Given the description of an element on the screen output the (x, y) to click on. 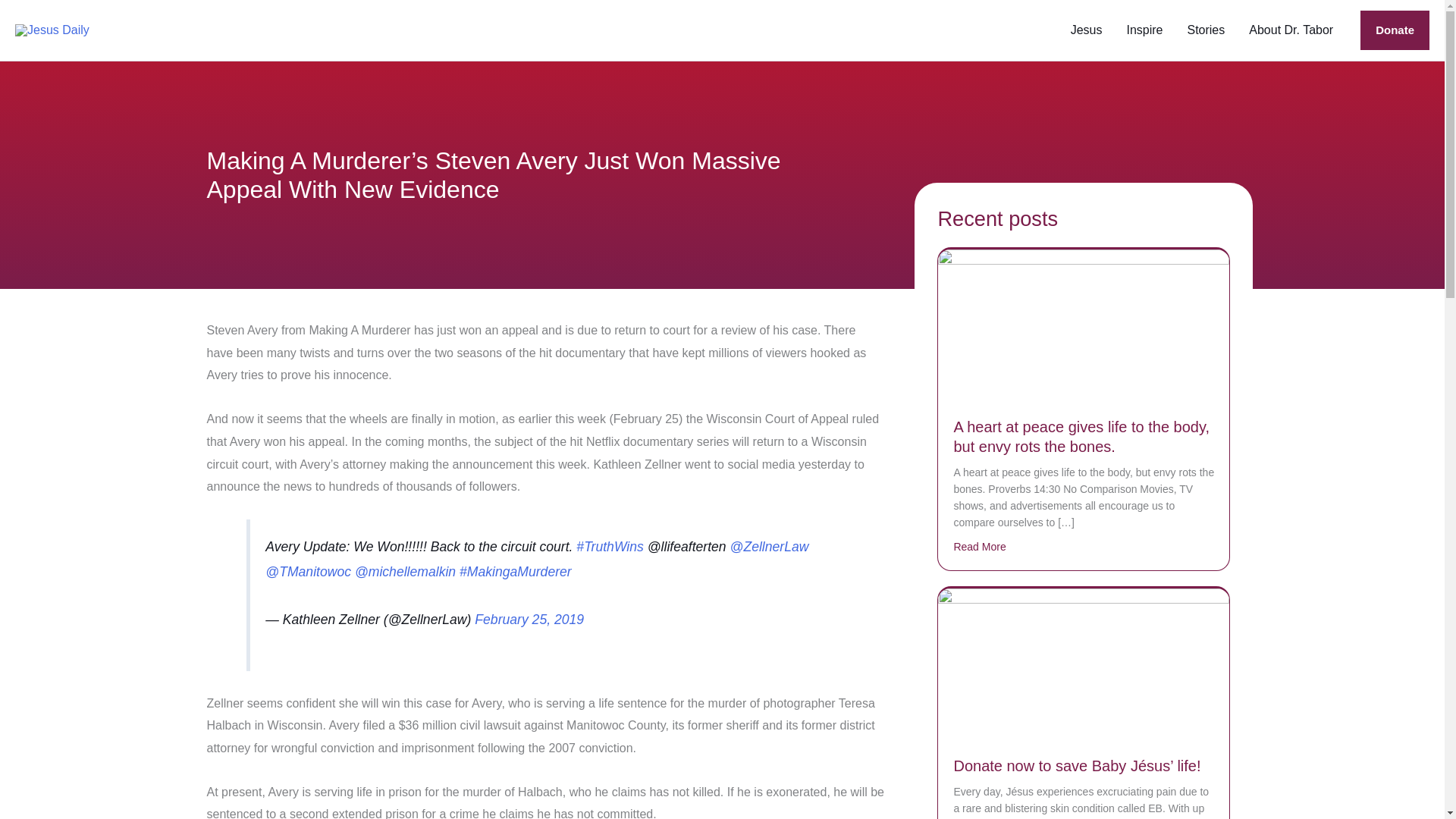
About Dr. Tabor (1290, 30)
Inspire (1143, 30)
Jesus (1086, 30)
Stories (1205, 30)
Read More (979, 546)
Donate (1394, 29)
February 25, 2019 (528, 619)
